Given the description of an element on the screen output the (x, y) to click on. 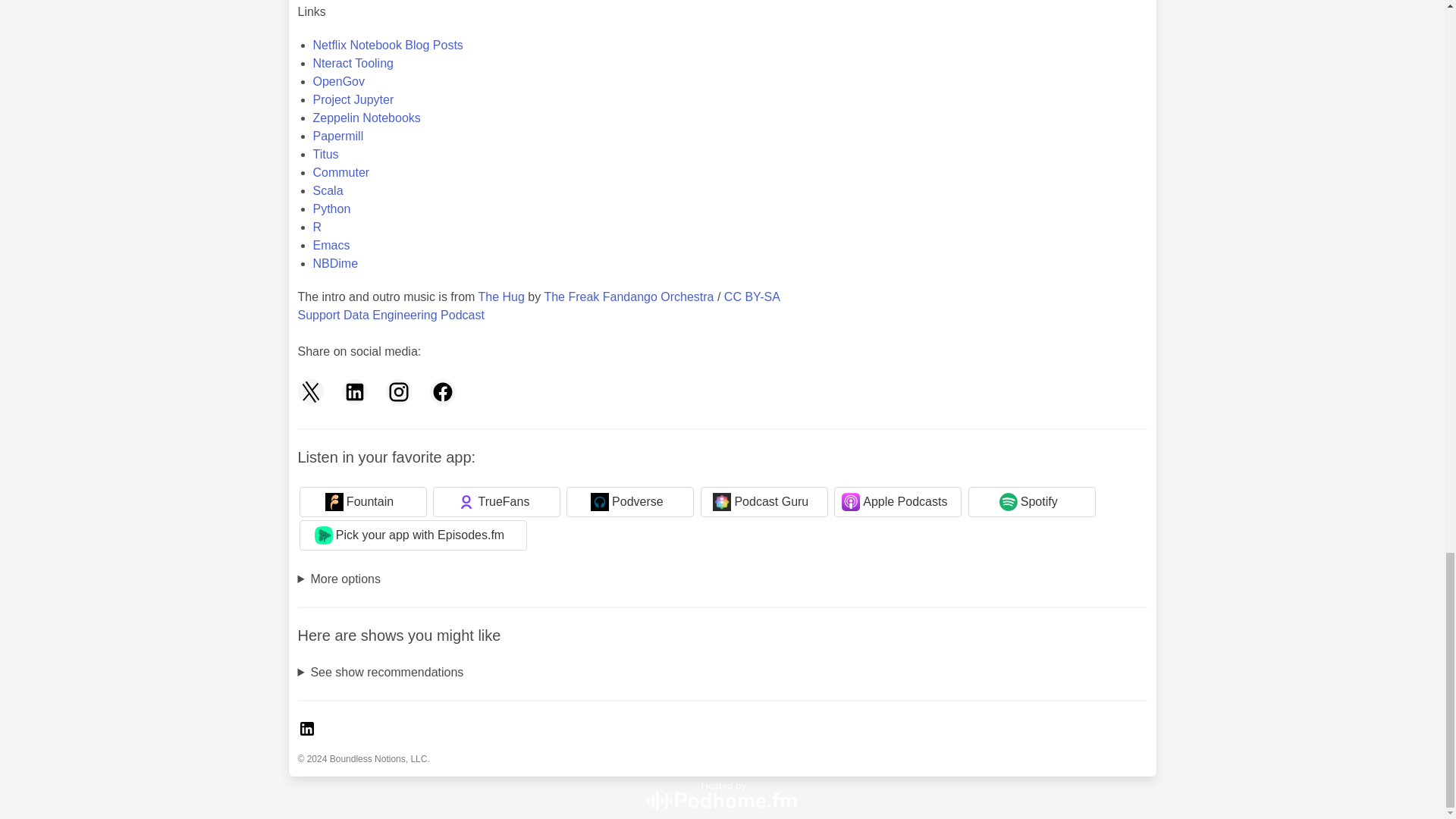
NBDime (335, 263)
Project Jupyter (353, 99)
Python (331, 208)
OpenGov (338, 81)
Emacs (331, 245)
Listen on Podverse (630, 501)
Nteract Tooling (353, 62)
Commuter (341, 172)
Papermill (337, 135)
The Freak Fandango Orchestra (628, 296)
